Given the description of an element on the screen output the (x, y) to click on. 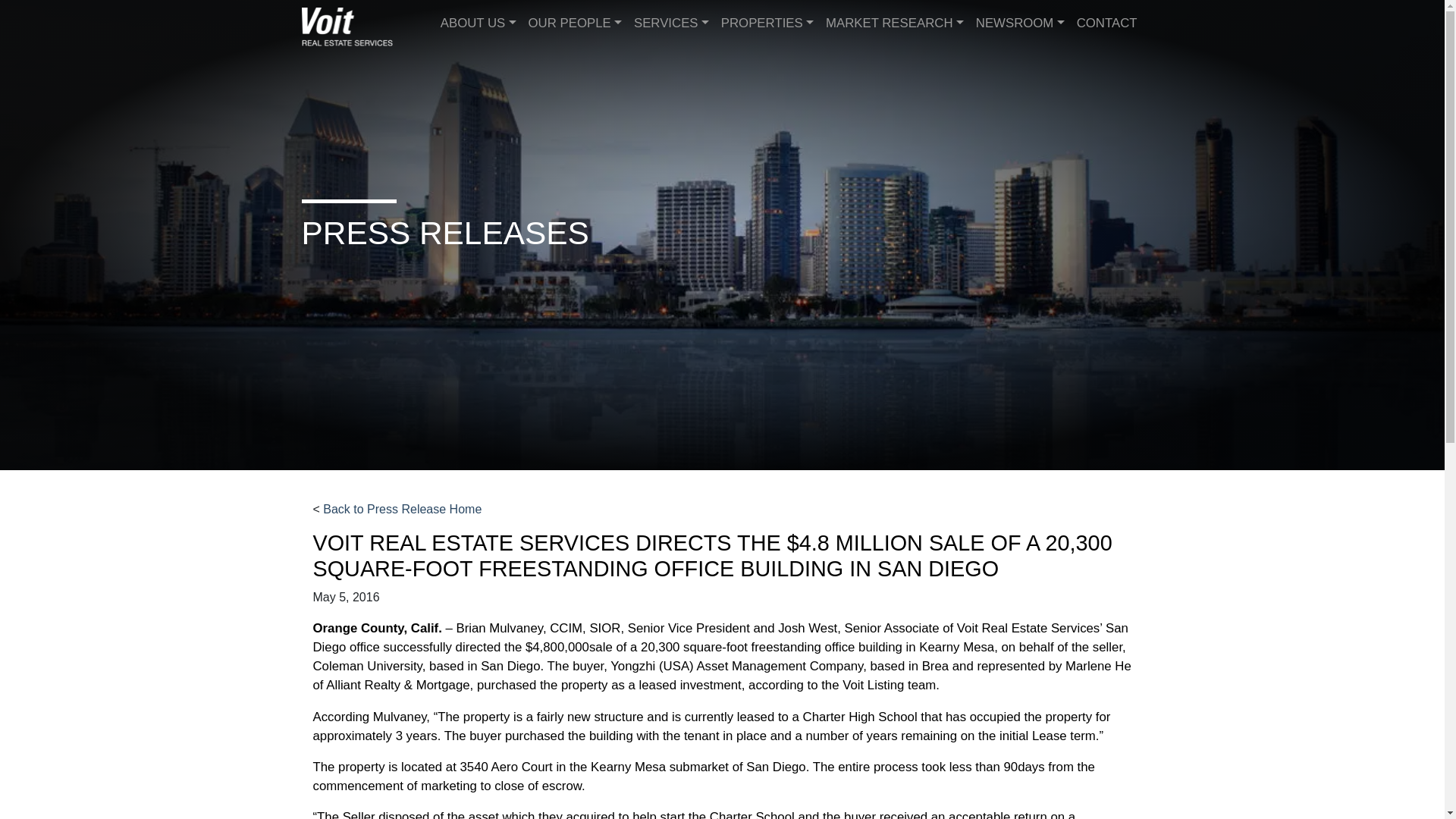
PROPERTIES (766, 22)
MARKET RESEARCH (894, 22)
ABOUT US (477, 22)
NEWSROOM (1019, 22)
SERVICES (670, 22)
CONTACT (1106, 22)
Properties (766, 22)
Newsroom (1019, 22)
About Us (477, 22)
OUR PEOPLE (574, 22)
